Given the description of an element on the screen output the (x, y) to click on. 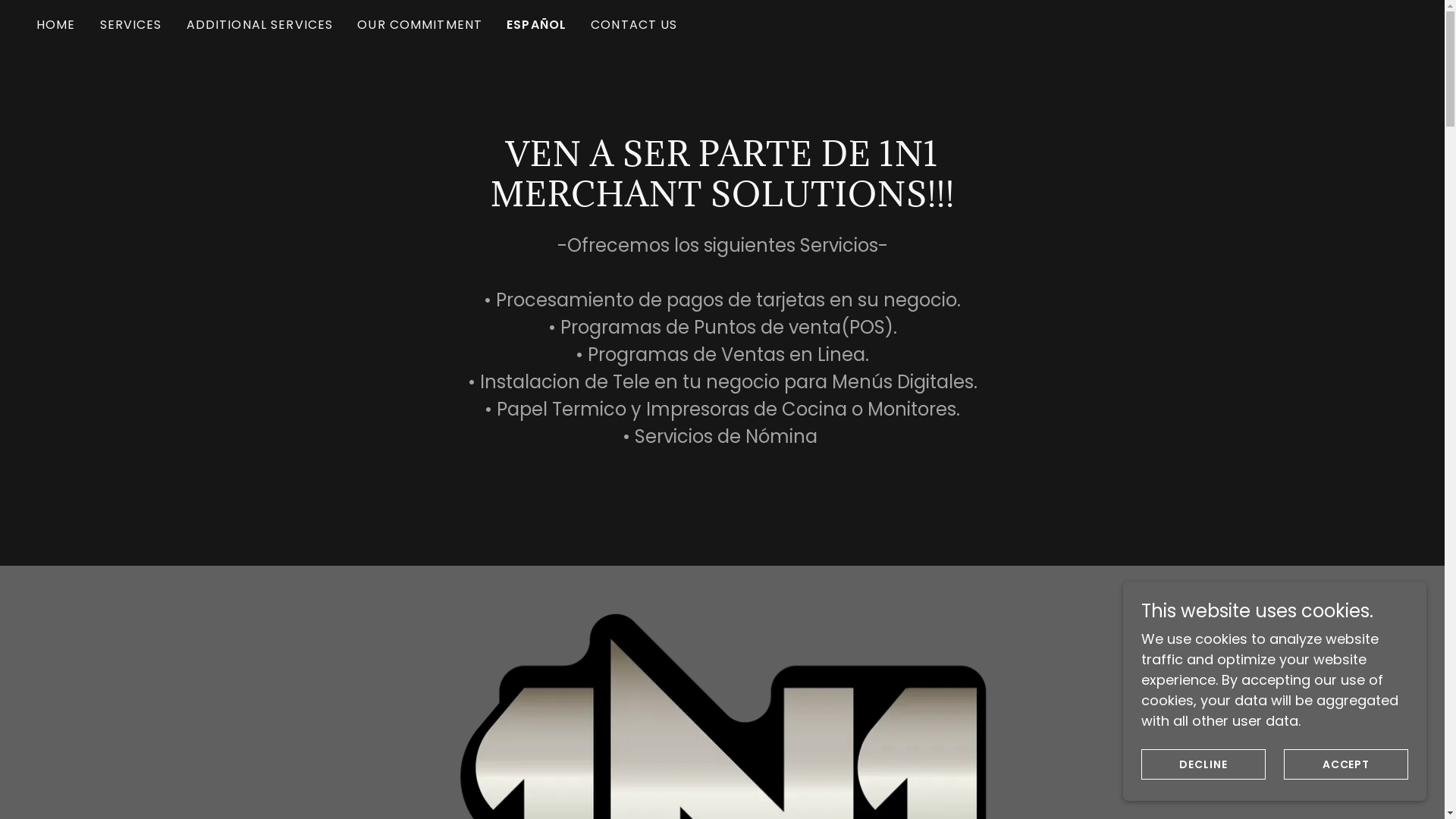
SERVICES Element type: text (130, 24)
CONTACT US Element type: text (633, 24)
DECLINE Element type: text (1203, 764)
ADDITIONAL SERVICES Element type: text (260, 24)
ACCEPT Element type: text (1345, 764)
HOME Element type: text (55, 24)
OUR COMMITMENT Element type: text (419, 24)
